Given the description of an element on the screen output the (x, y) to click on. 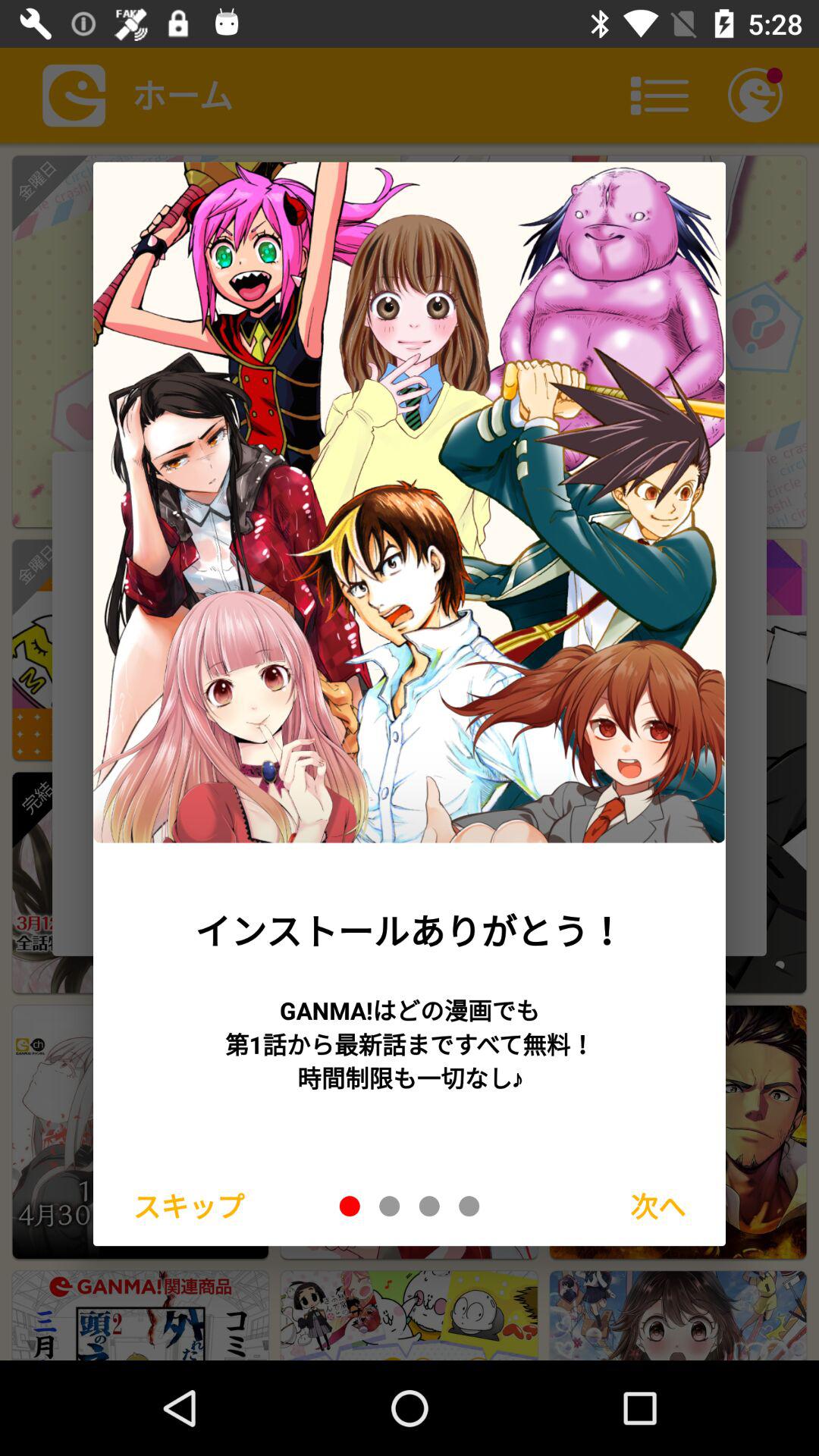
display picture on this link (429, 1206)
